Given the description of an element on the screen output the (x, y) to click on. 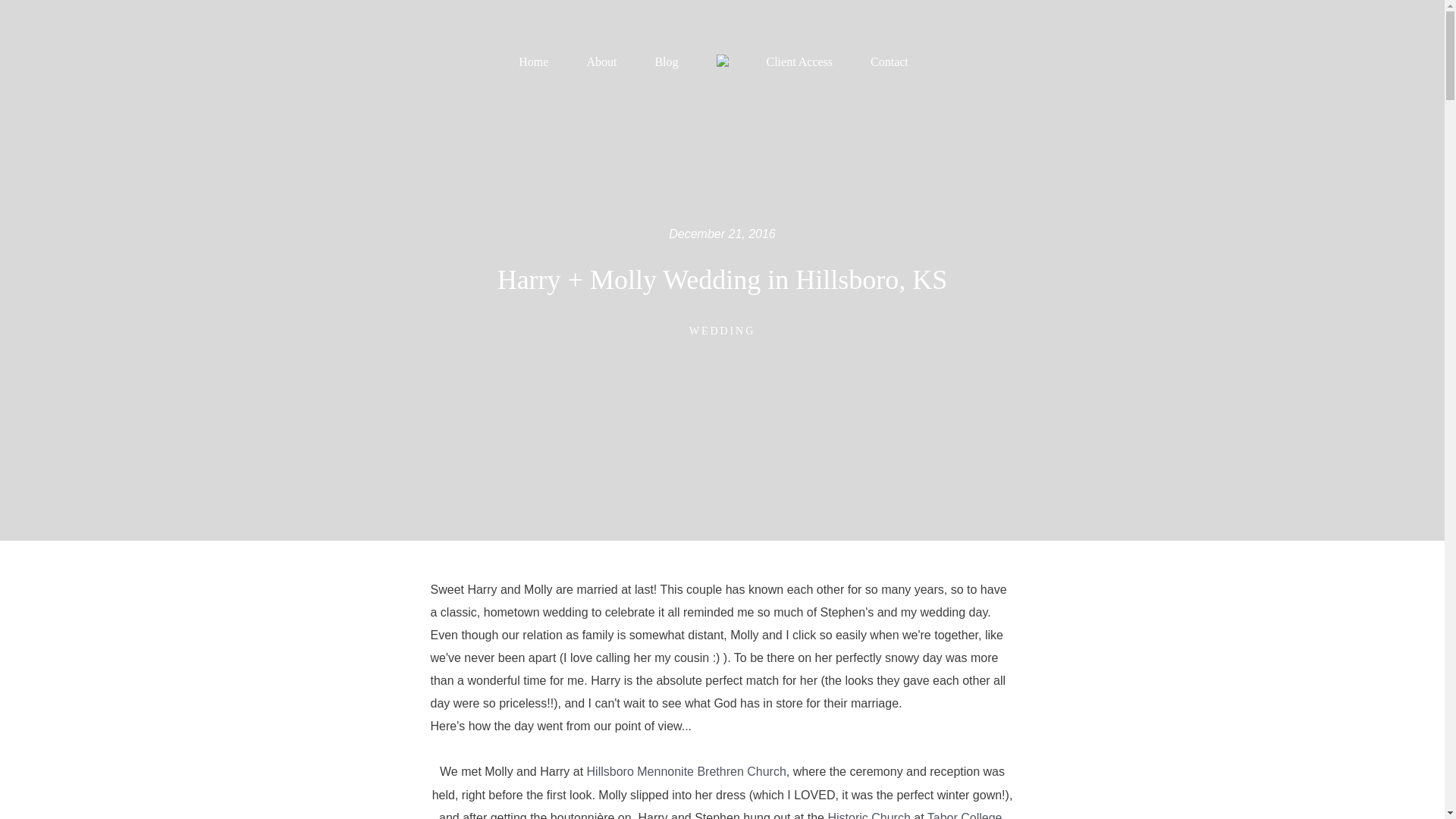
Home (533, 62)
Hillsboro Mennonite Brethren Church (686, 771)
WEDDING (721, 330)
Blog (665, 62)
Historic Church (868, 815)
Tabor College (965, 815)
About (600, 62)
Contact (889, 62)
Client Access (799, 62)
